Given the description of an element on the screen output the (x, y) to click on. 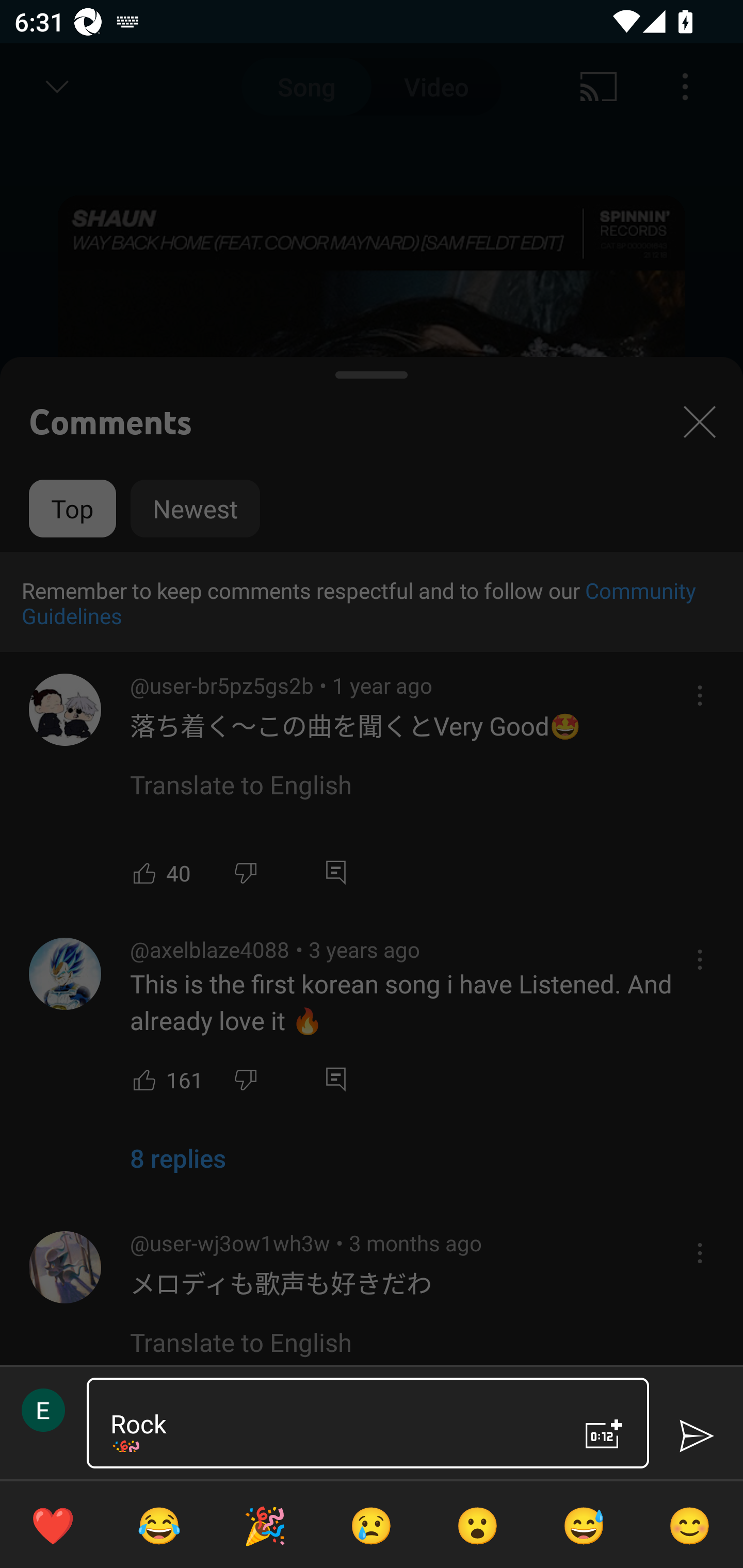
Rock
🎉 (329, 1422)
Add a timestamp (603, 1433)
Send comment (695, 1436)
❤ (53, 1524)
😂 (158, 1524)
🎉 (264, 1524)
😢 (371, 1524)
😮 (477, 1524)
😅 (583, 1524)
😊 (689, 1524)
